Given the description of an element on the screen output the (x, y) to click on. 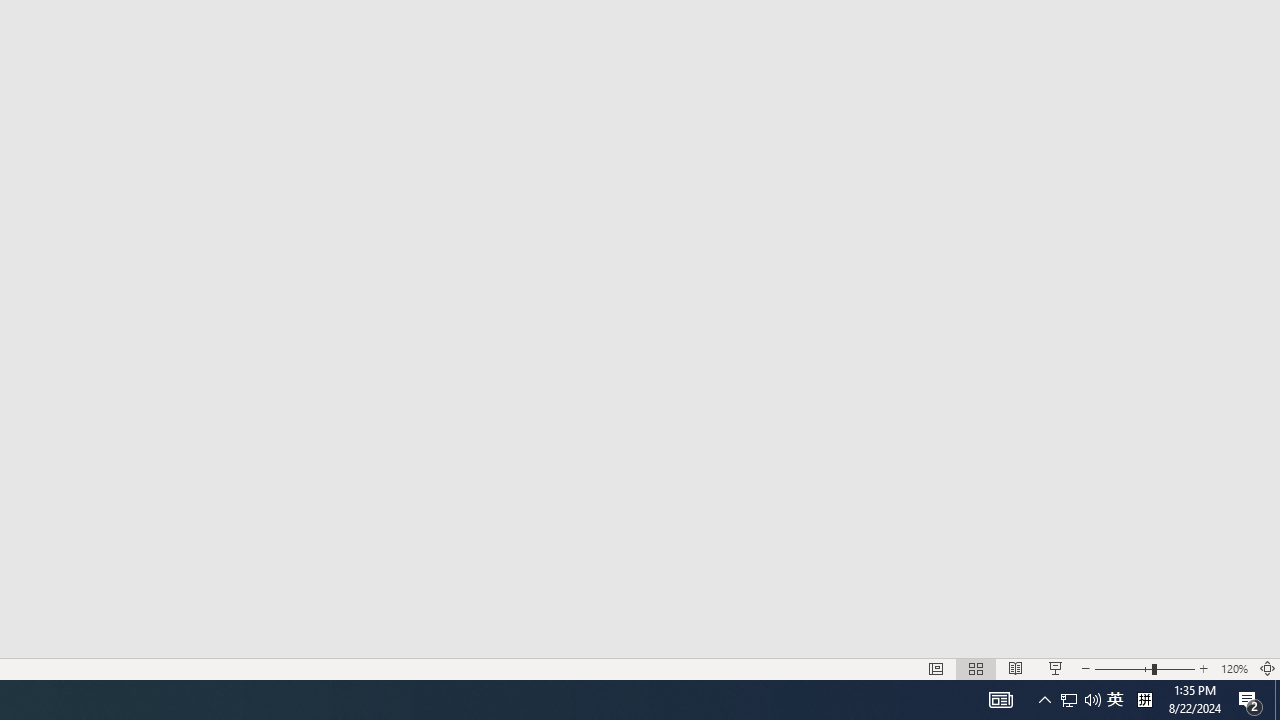
Zoom (1144, 668)
Zoom Out (1123, 668)
Slide Show (1055, 668)
Slide Sorter (975, 668)
Normal (936, 668)
Zoom 120% (1234, 668)
Zoom In (1204, 668)
Zoom to Fit  (1267, 668)
Reading View (1015, 668)
